Given the description of an element on the screen output the (x, y) to click on. 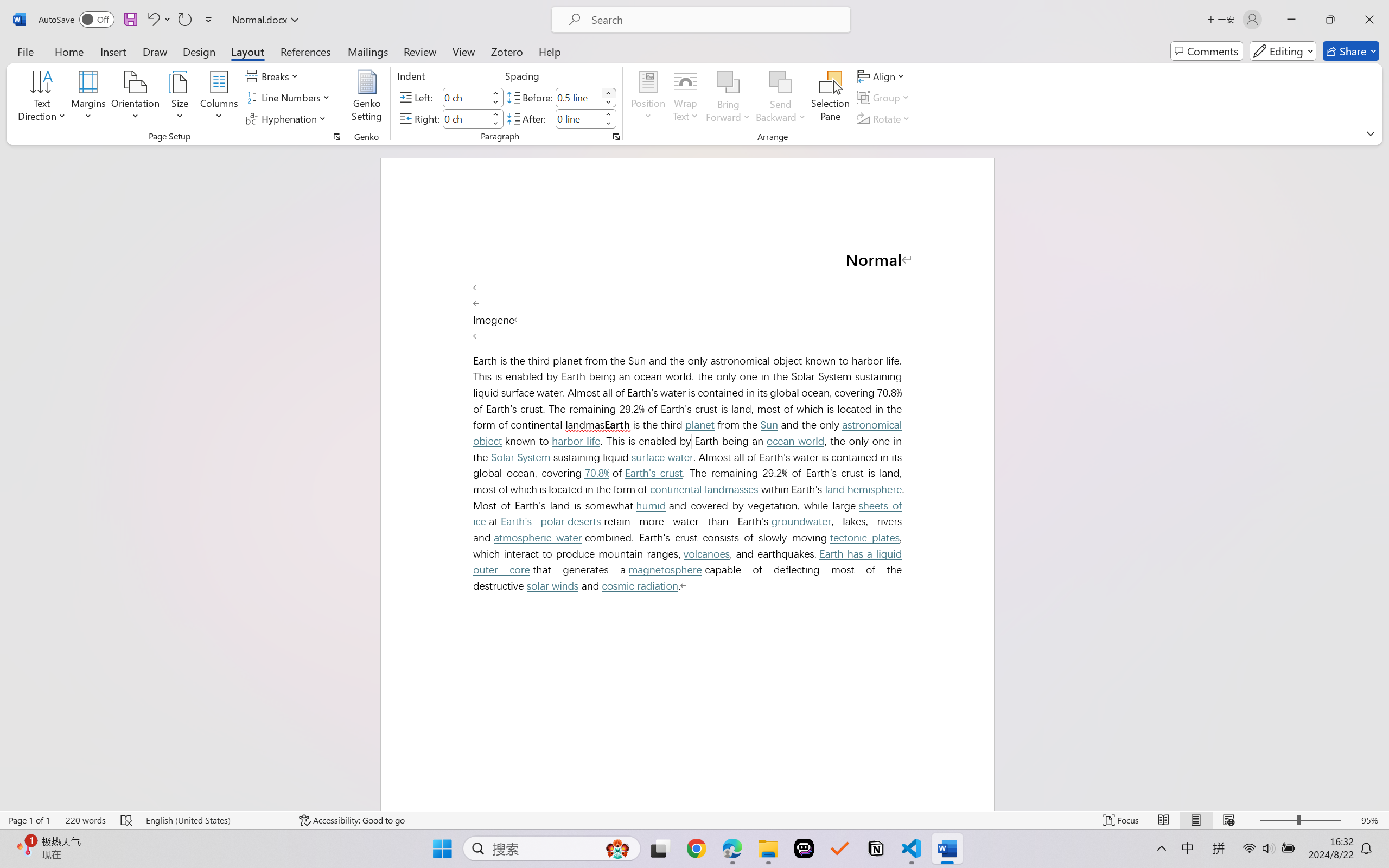
Columns (219, 97)
Margins (88, 97)
volcanoes (706, 553)
atmospheric water (537, 537)
Zoom 95% (1372, 819)
Undo Paragraph Formatting (158, 19)
surface water (662, 457)
